Given the description of an element on the screen output the (x, y) to click on. 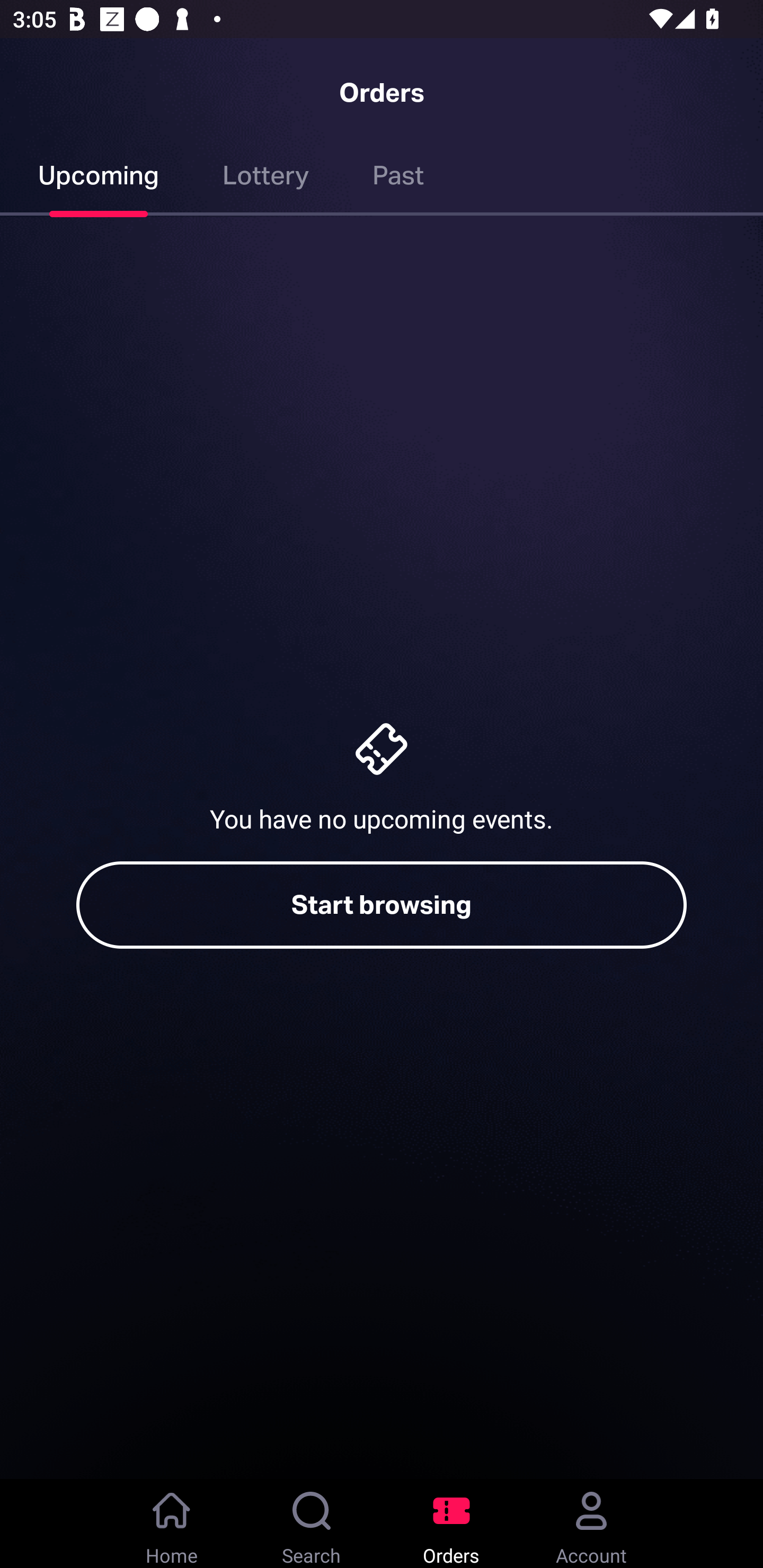
Lottery (265, 179)
Past (398, 179)
Start browsing (381, 904)
Home (171, 1523)
Search (311, 1523)
Account (591, 1523)
